Given the description of an element on the screen output the (x, y) to click on. 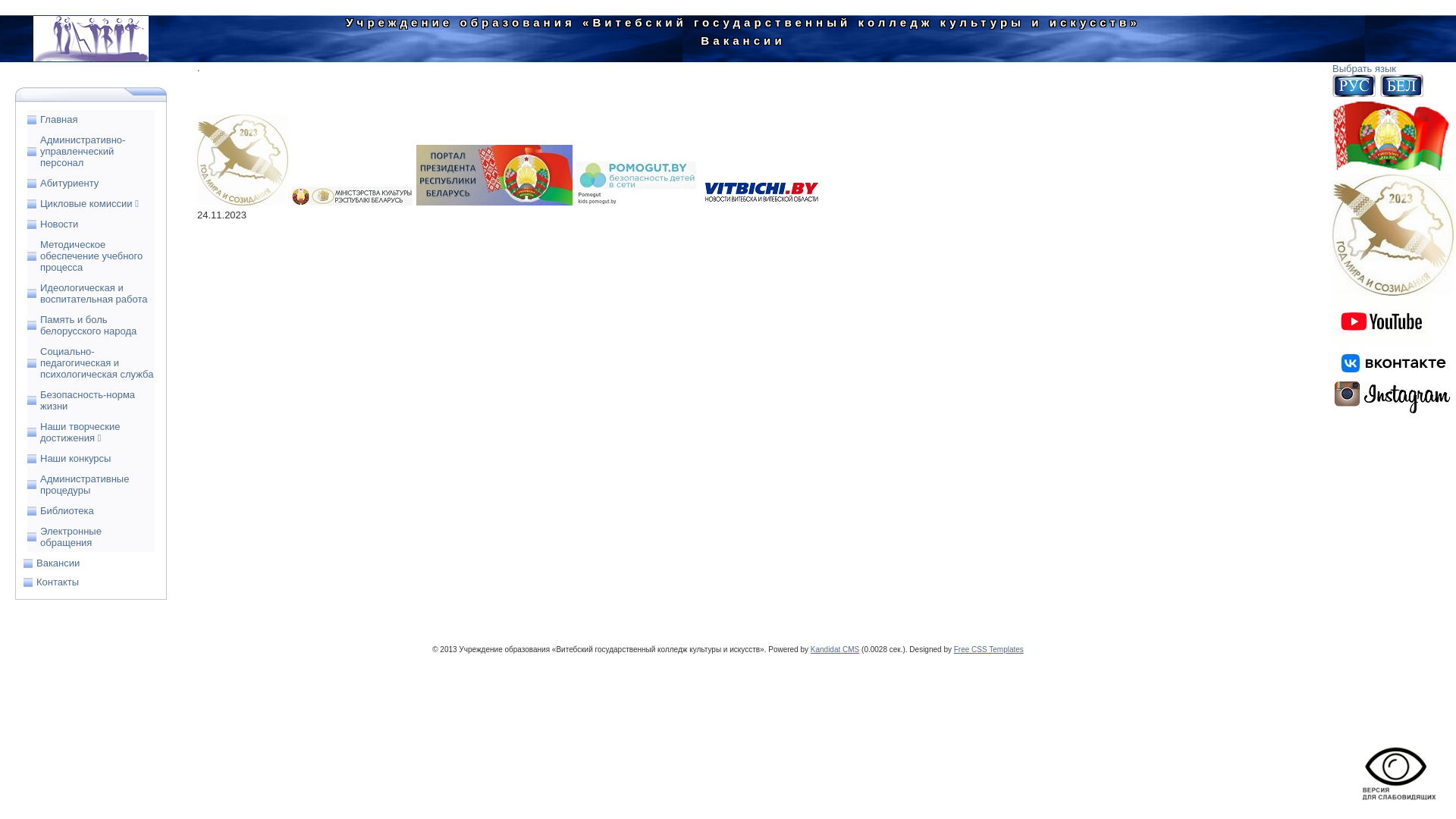
Free CSS Templates Element type: text (988, 649)
Kandidat CMS Element type: text (834, 649)
